Given the description of an element on the screen output the (x, y) to click on. 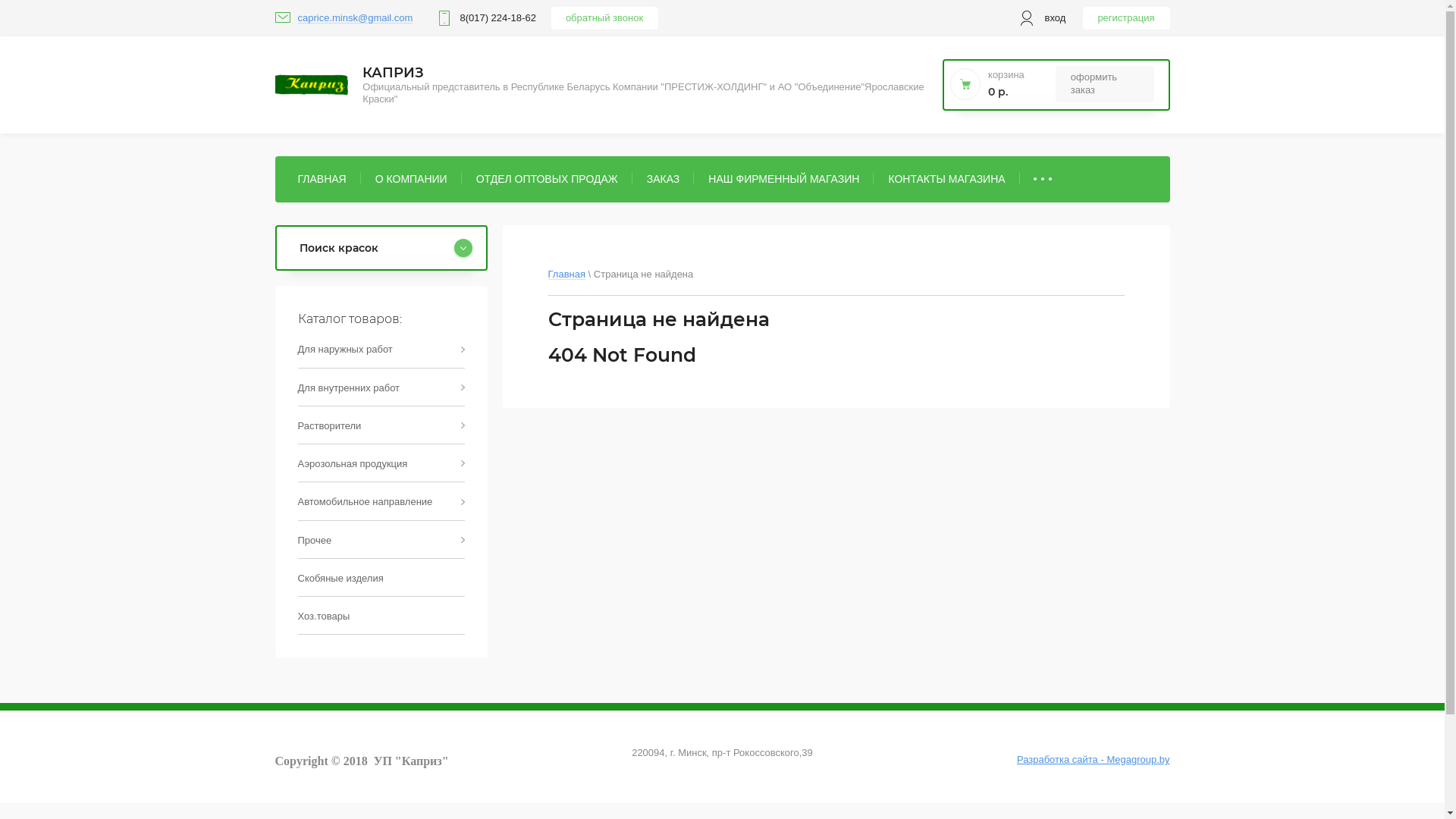
caprice.minsk@gmail.com Element type: text (354, 17)
8(017) 224-18-62 Element type: hover (311, 84)
8(017) 224-18-62 Element type: text (497, 18)
View More Element type: hover (1042, 178)
